Given the description of an element on the screen output the (x, y) to click on. 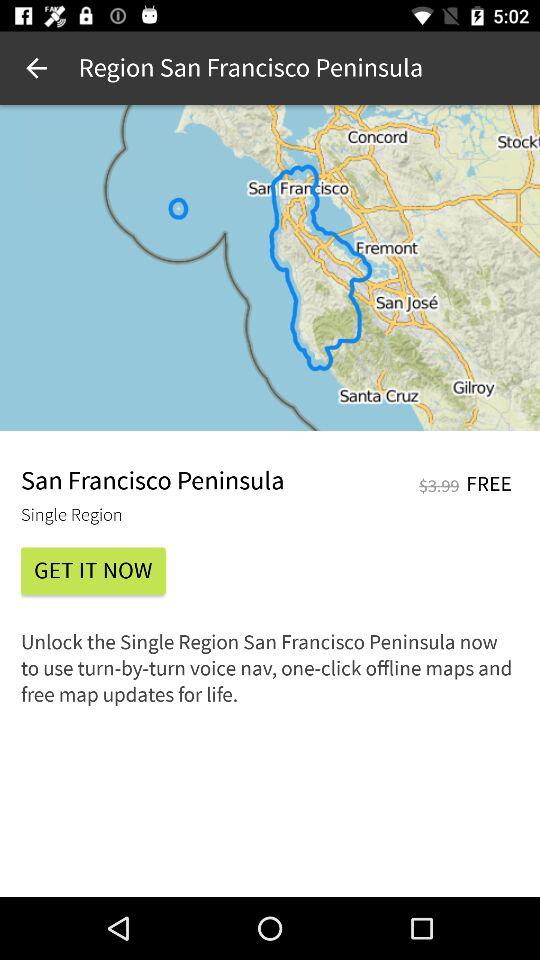
click item above the san francisco peninsula (270, 268)
